Given the description of an element on the screen output the (x, y) to click on. 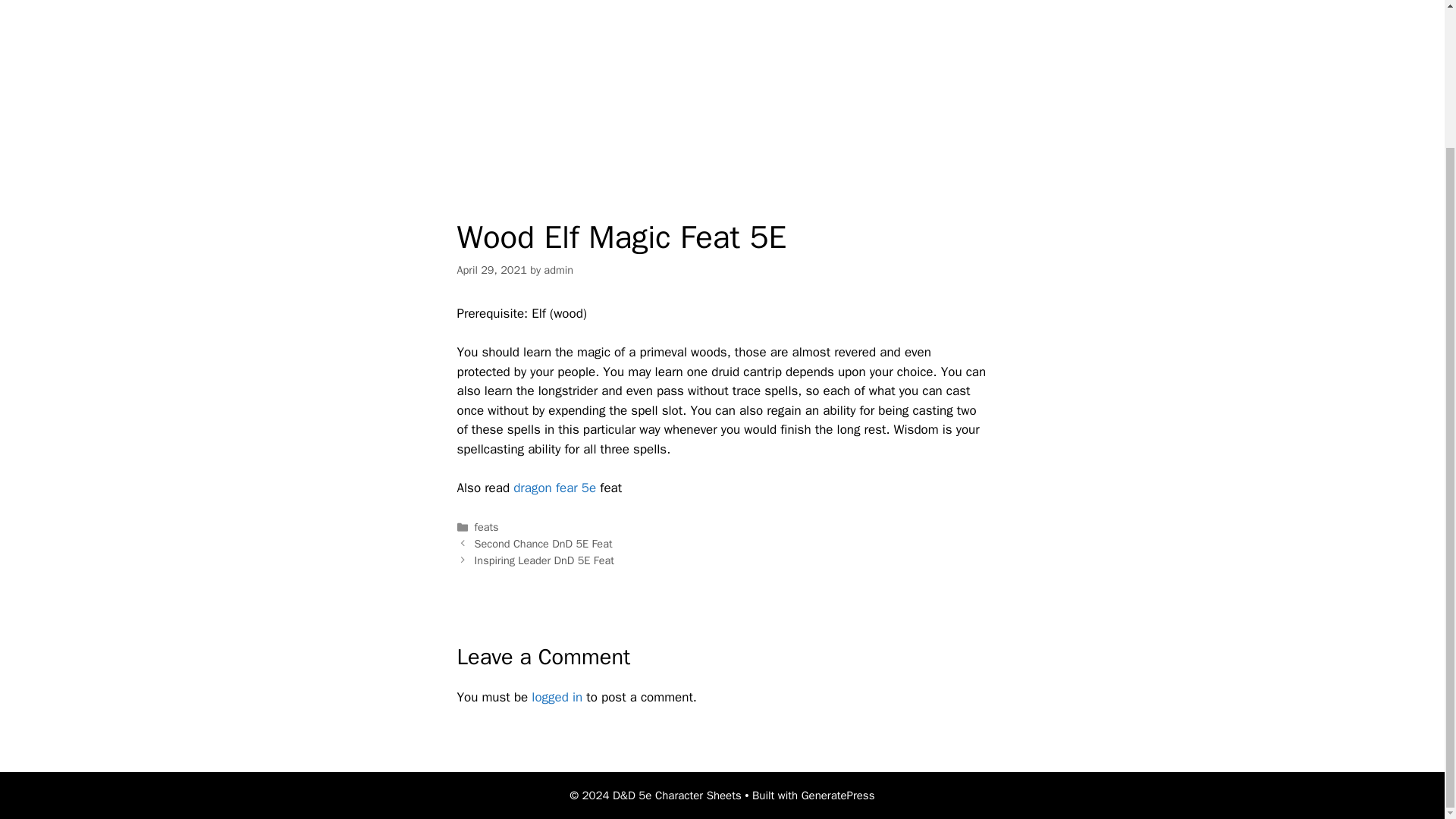
View all posts by admin (558, 269)
